Given the description of an element on the screen output the (x, y) to click on. 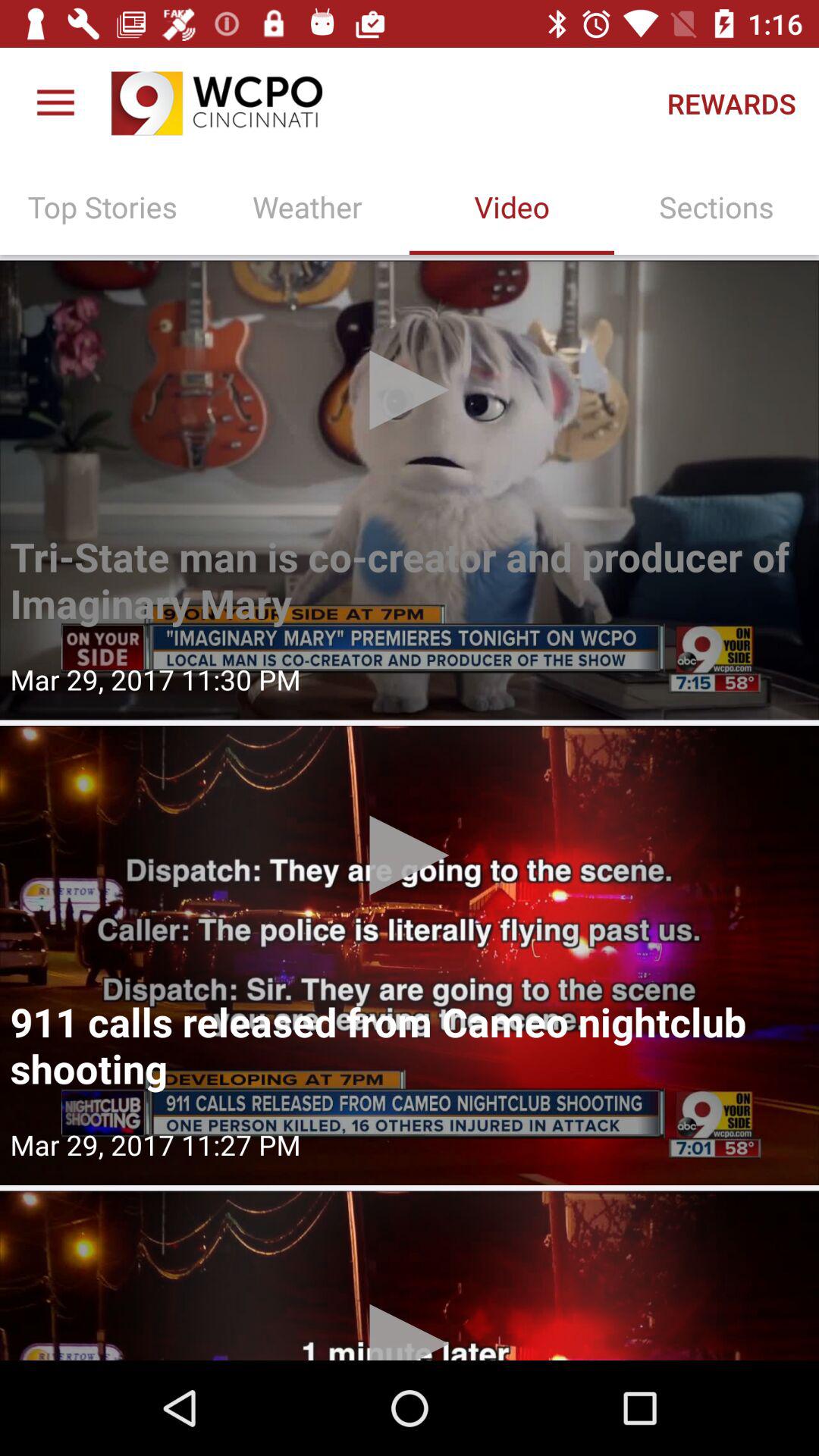
play video (409, 1275)
